Given the description of an element on the screen output the (x, y) to click on. 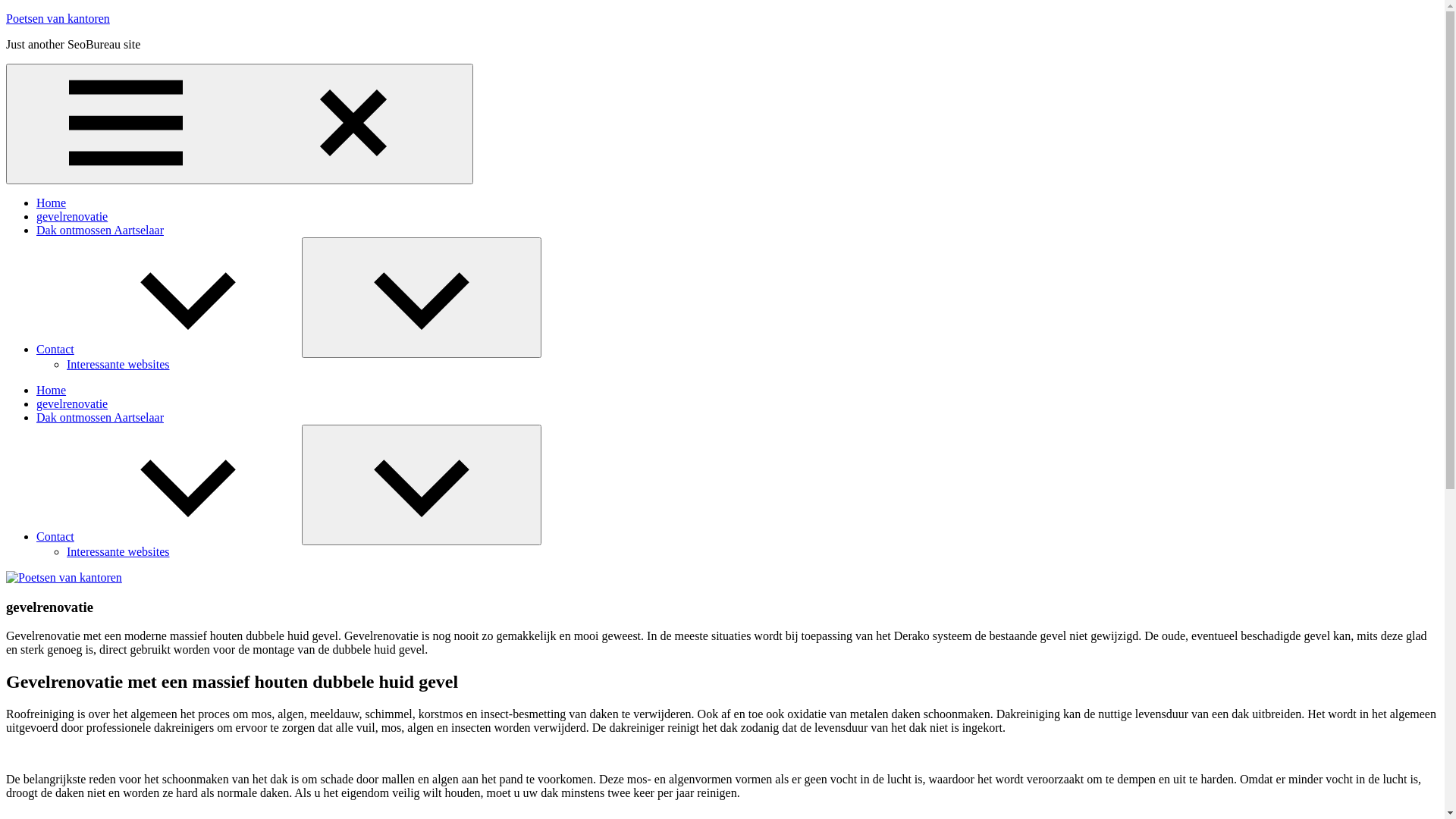
Home Element type: text (50, 389)
Doorgaan naar inhoud Element type: text (5, 11)
Home Element type: text (50, 202)
Interessante websites Element type: text (117, 363)
Vouw het submenu uit Element type: text (421, 297)
Contact Element type: text (168, 536)
Dak ontmossen Aartselaar Element type: text (99, 417)
Contact Element type: text (168, 348)
Menu Element type: text (239, 123)
Interessante websites Element type: text (117, 551)
Dak ontmossen Aartselaar Element type: text (99, 229)
gevelrenovatie Element type: text (71, 403)
gevelrenovatie Element type: text (71, 216)
Poetsen van kantoren Element type: text (57, 18)
Vouw het submenu uit Element type: text (421, 484)
